Given the description of an element on the screen output the (x, y) to click on. 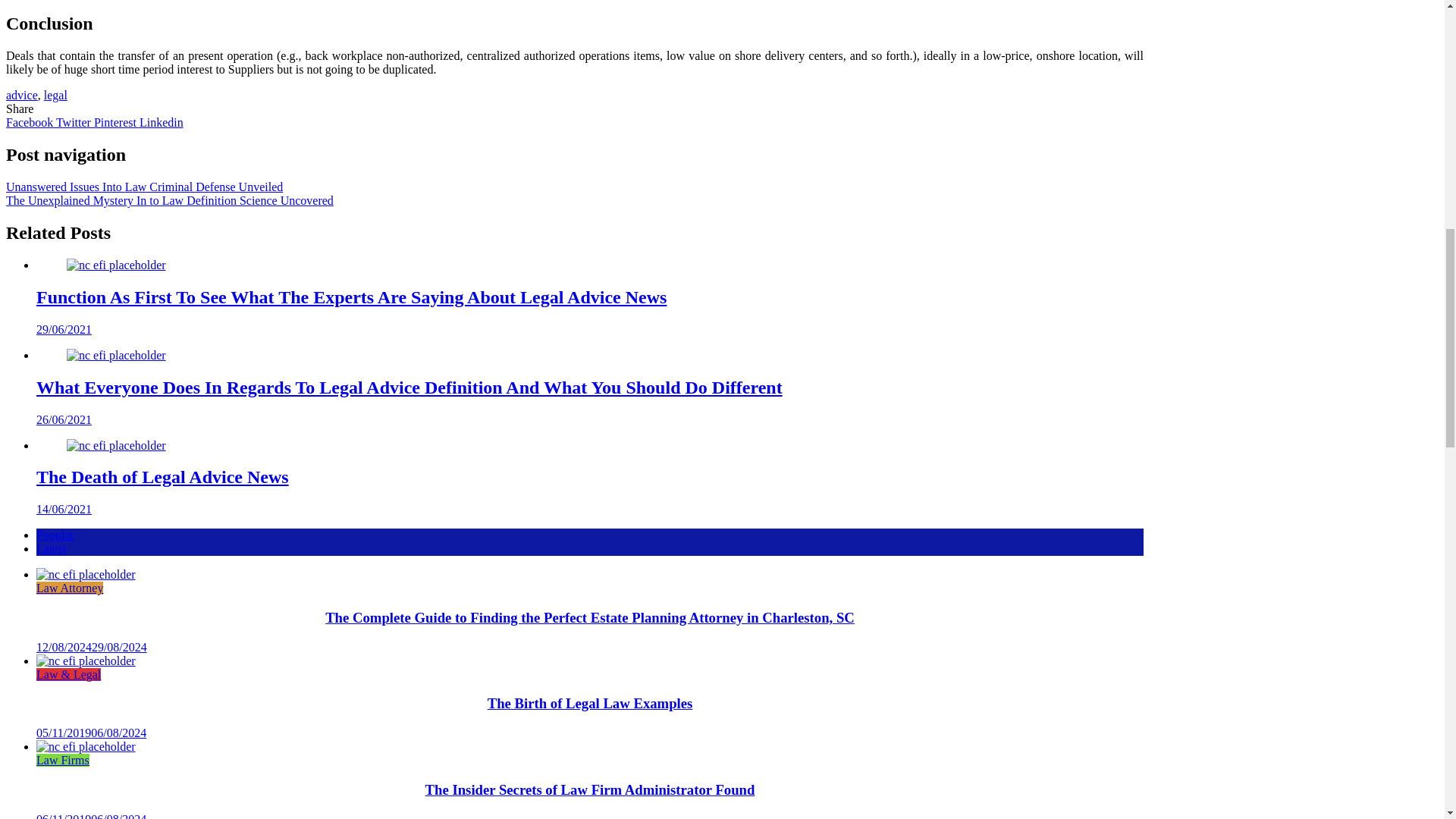
Facebook (30, 122)
Twitter (75, 122)
The Death of Legal Advice News (162, 476)
legal (54, 94)
Unanswered Issues Into Law Criminal Defense Unveiled (143, 186)
The Death of Legal Advice News (115, 445)
The Birth of Legal Law Examples (85, 661)
